Given the description of an element on the screen output the (x, y) to click on. 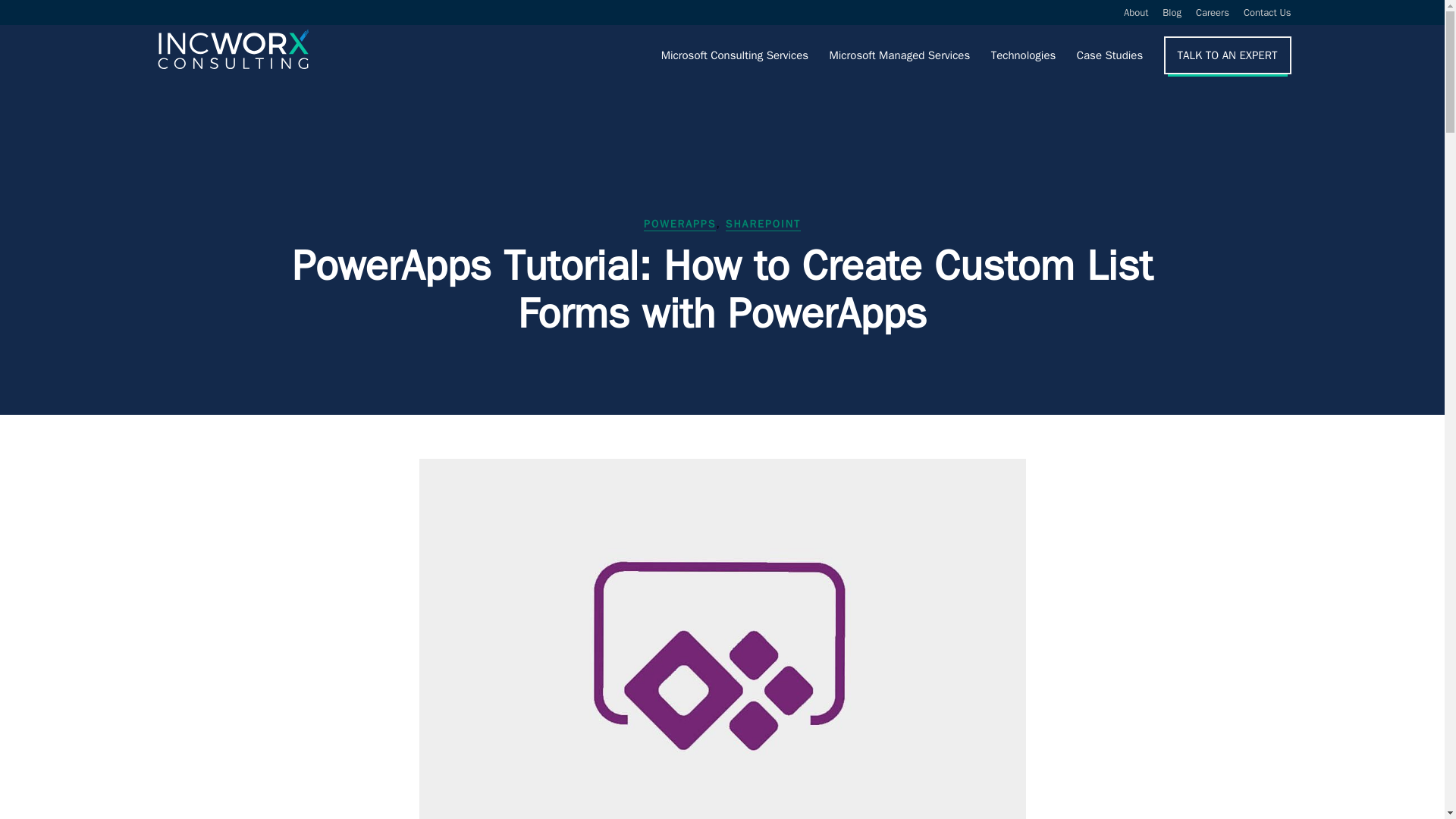
Case Studies (1109, 54)
Microsoft Consulting Services (734, 54)
TALK TO AN EXPERT (1227, 54)
Technologies (1024, 54)
About (1136, 16)
Careers (1211, 16)
Microsoft Managed Services (898, 54)
Contact Us (1267, 16)
Blog (1170, 16)
